Given the description of an element on the screen output the (x, y) to click on. 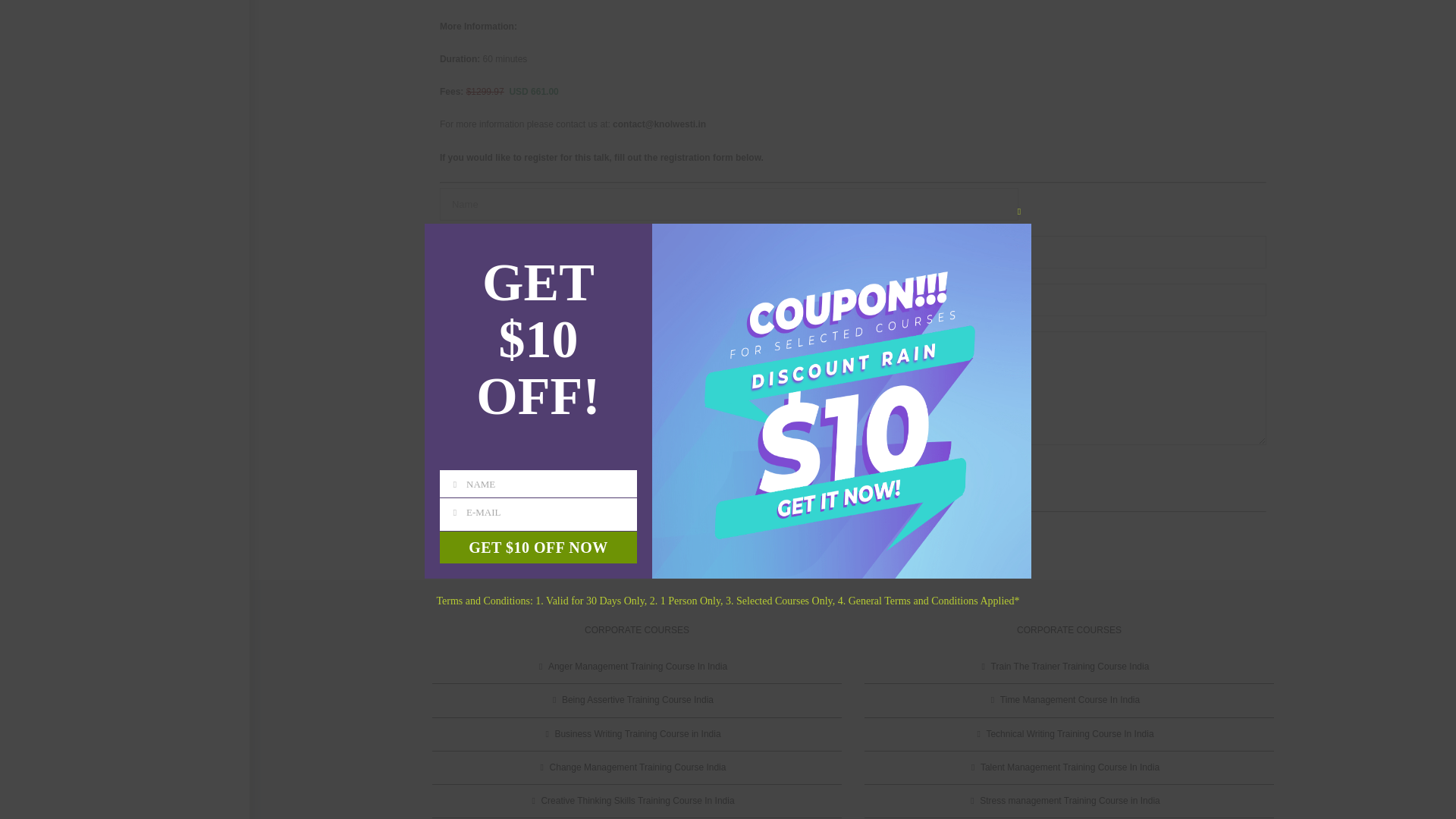
submit (467, 475)
